Given the description of an element on the screen output the (x, y) to click on. 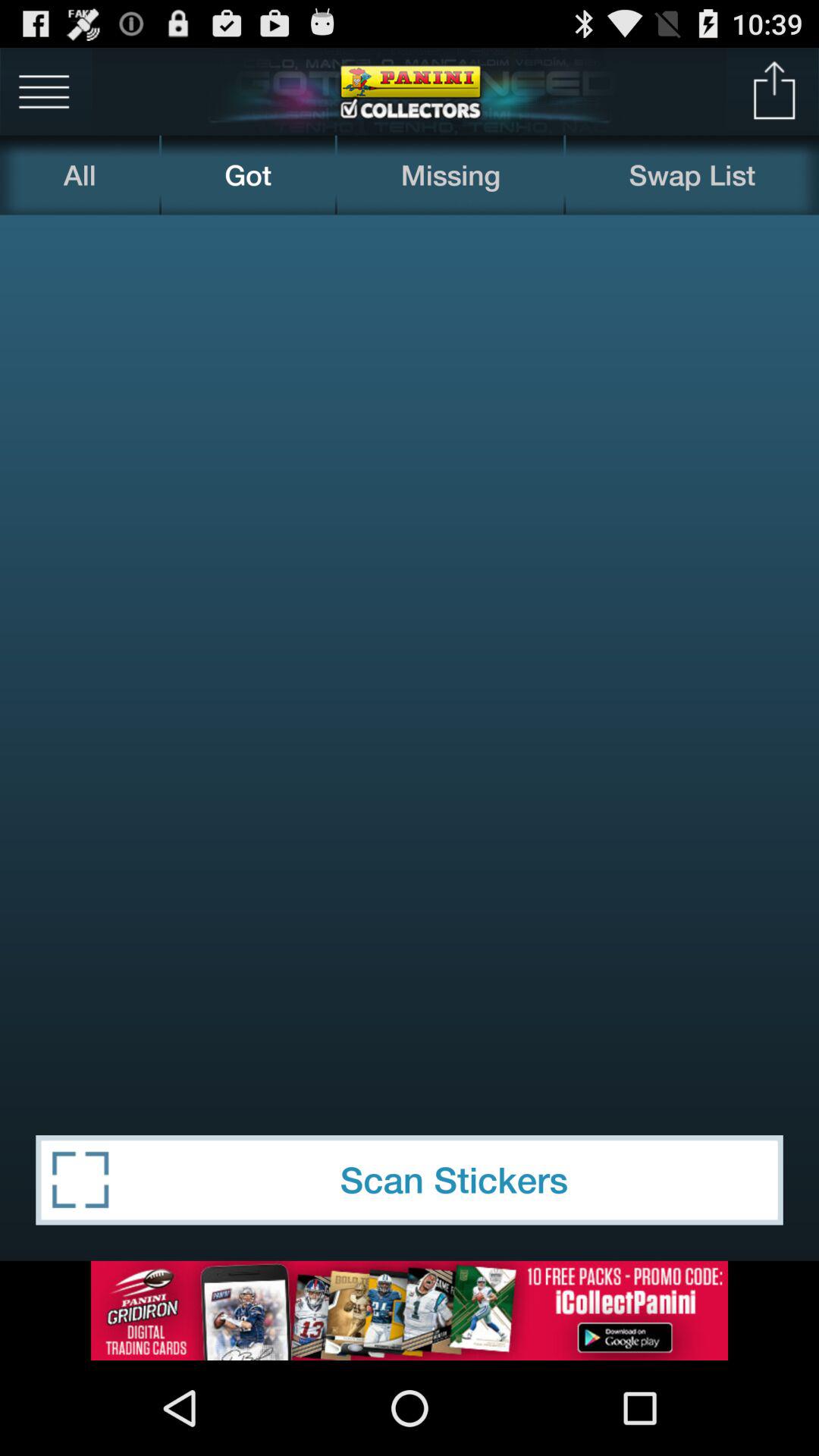
select the icon above scan stickers icon (409, 656)
